Given the description of an element on the screen output the (x, y) to click on. 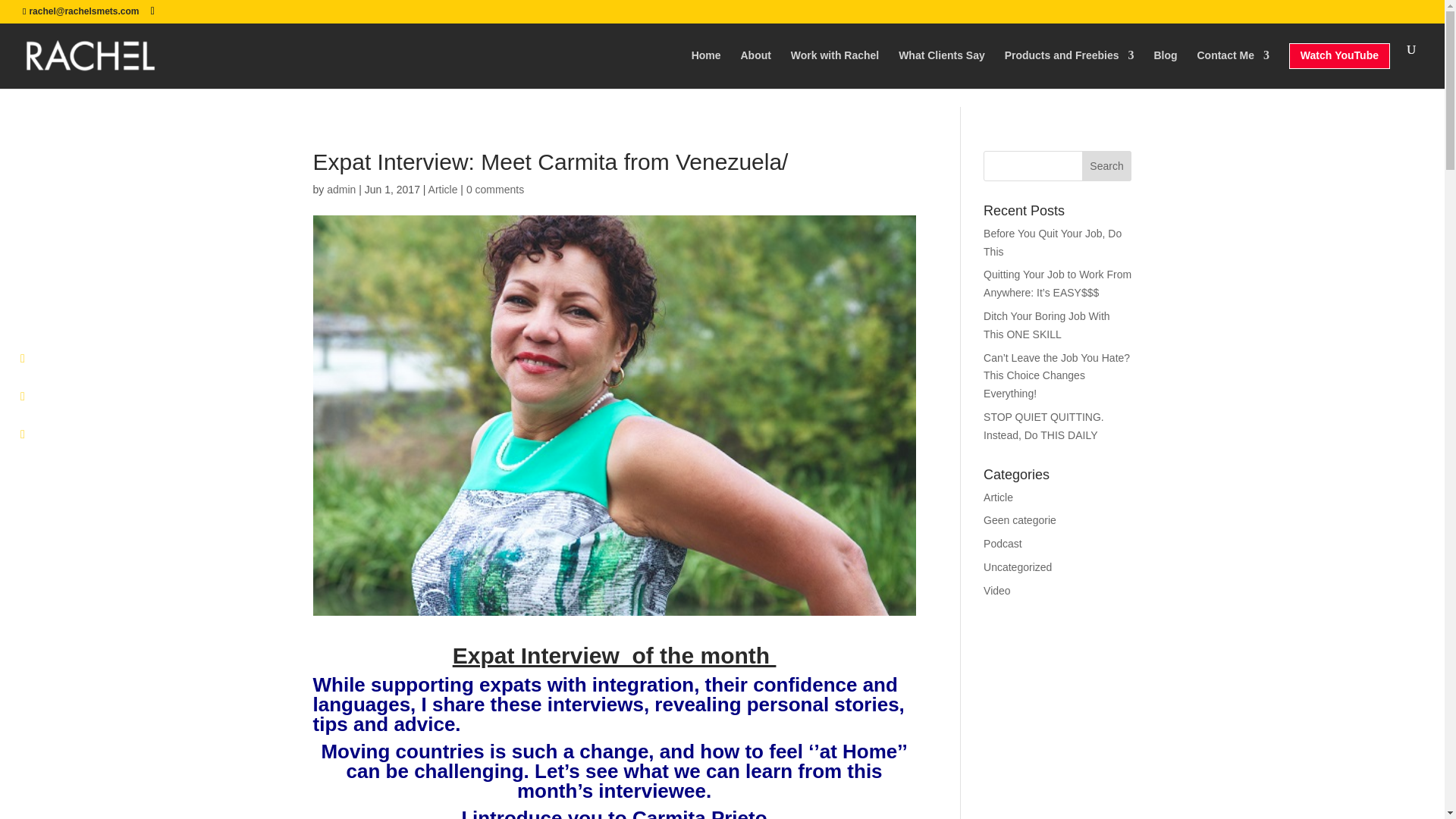
Products and Freebies (1069, 64)
0 comments (494, 189)
What Clients Say (941, 64)
Contact Me (1232, 64)
Home (705, 64)
Article (443, 189)
Search (1106, 165)
Watch YouTube (1339, 65)
About (754, 64)
Posts by admin (340, 189)
Work with Rachel (834, 64)
admin (340, 189)
Blog (1164, 64)
